Given the description of an element on the screen output the (x, y) to click on. 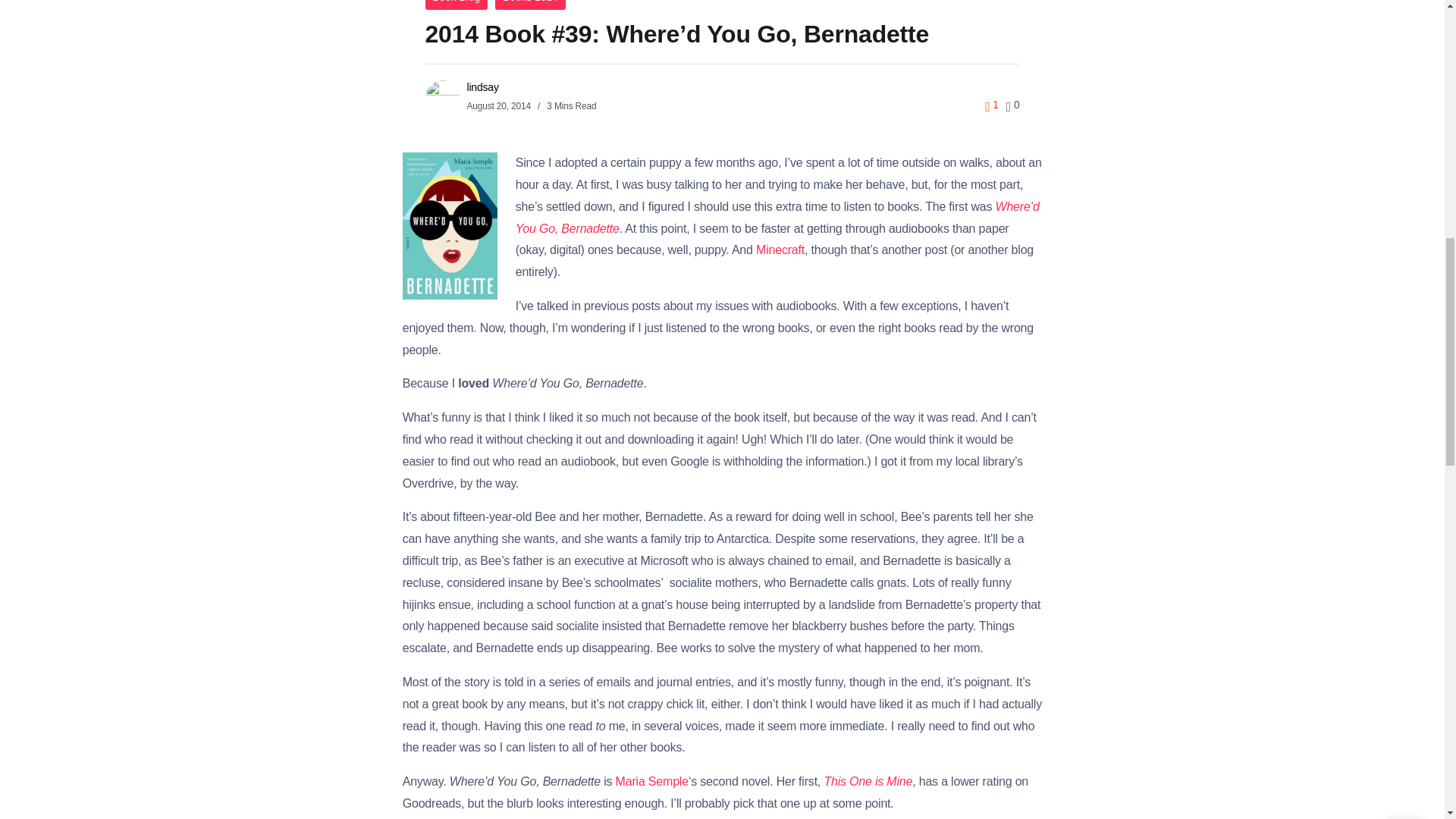
Minecraft (780, 249)
Views (991, 104)
0 (1013, 104)
Maria Semple (651, 780)
Books 2014 (530, 4)
lindsay (483, 87)
comments (1013, 104)
Book Blog (456, 4)
Books 2014 (530, 4)
This One is Mine (868, 780)
Book Blog (456, 4)
